Given the description of an element on the screen output the (x, y) to click on. 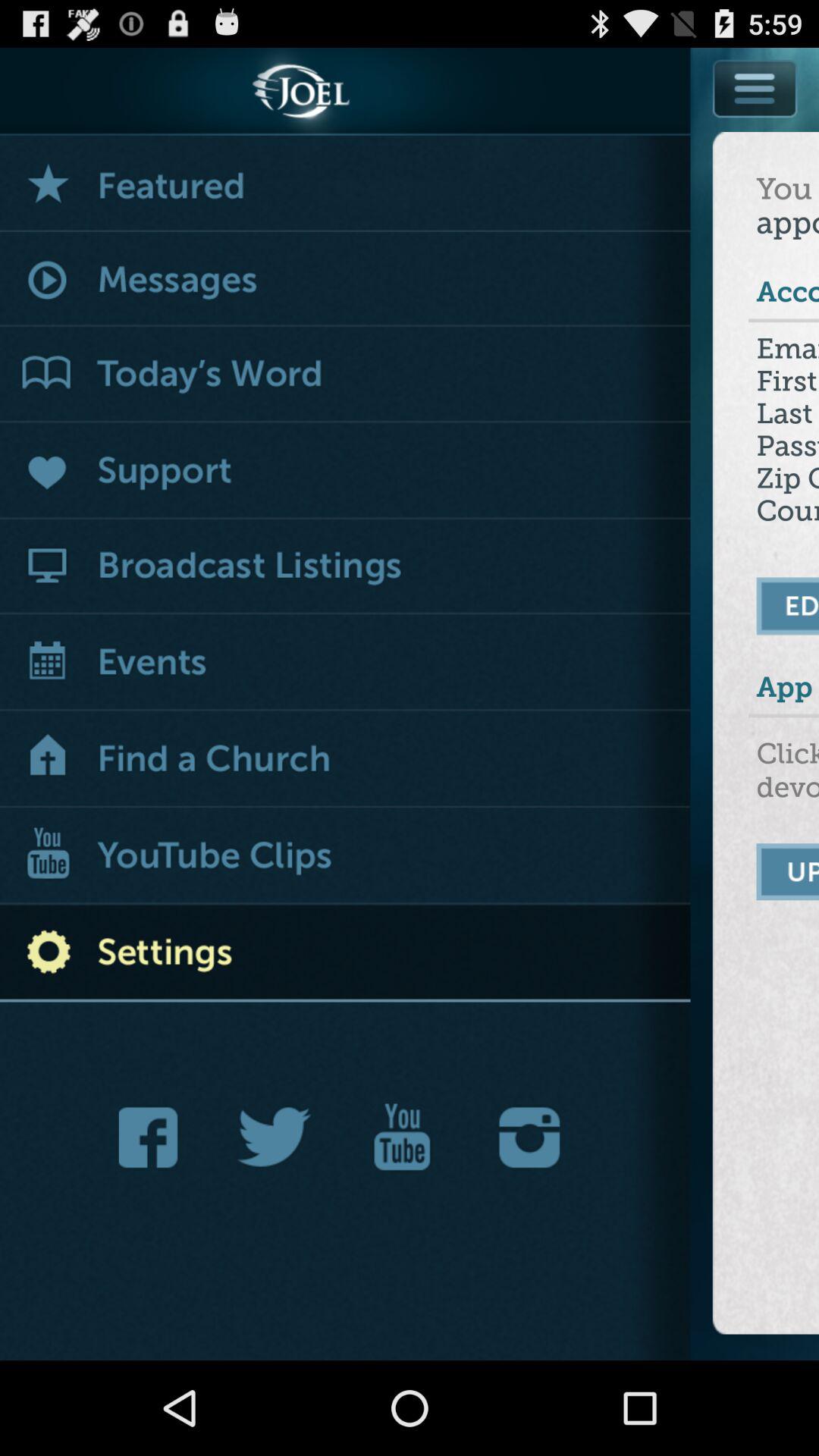
twitter (274, 1137)
